Given the description of an element on the screen output the (x, y) to click on. 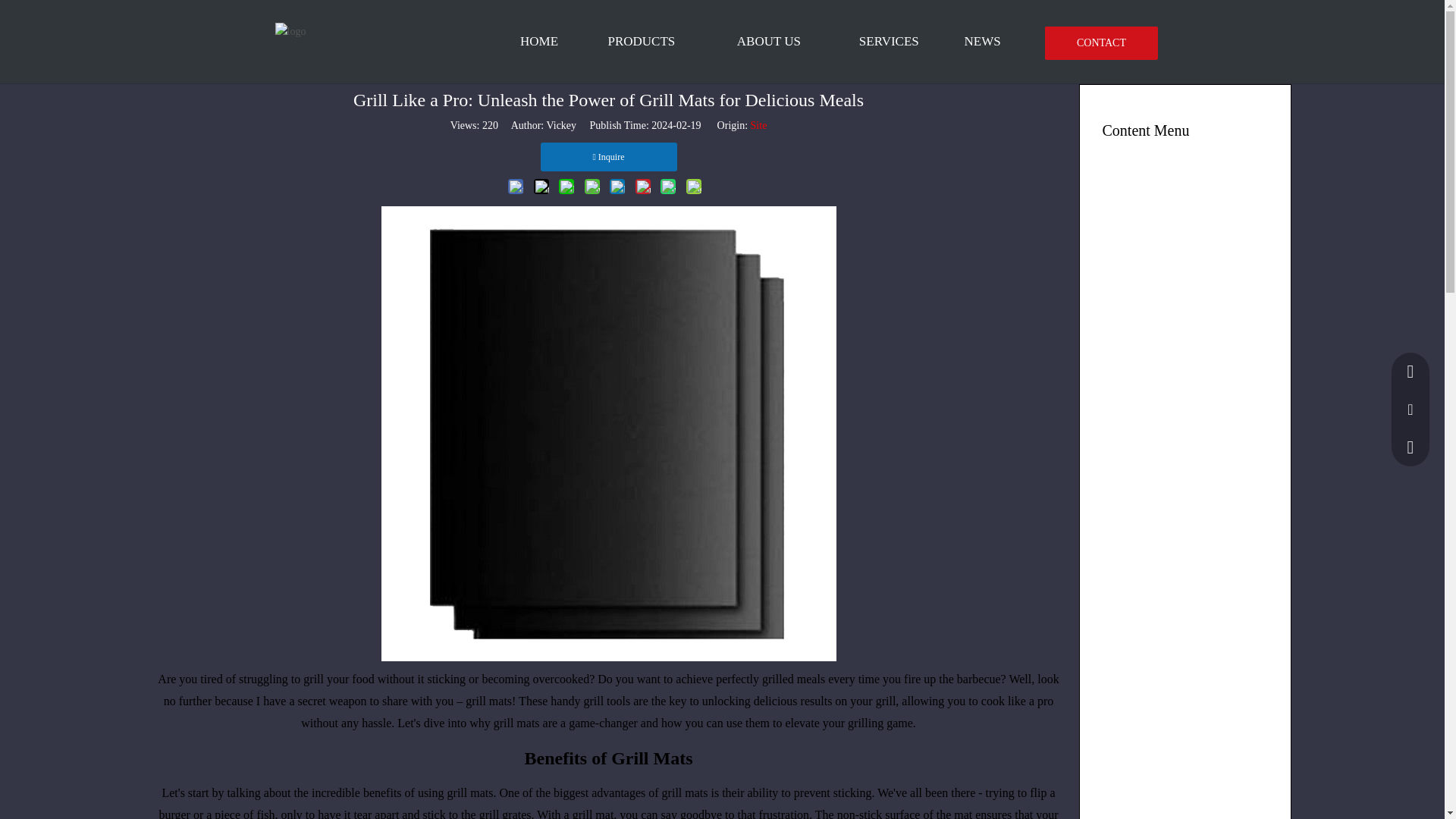
CONTACT (1101, 42)
grill mats (516, 722)
grill tools (606, 700)
PRODUCTS (641, 41)
ABOUT US (768, 41)
grill grates (505, 813)
SERVICES (889, 41)
grill grates (505, 813)
grill mats (516, 722)
Site (759, 125)
Inquire (608, 156)
logo (290, 31)
grill tools (606, 700)
